Given the description of an element on the screen output the (x, y) to click on. 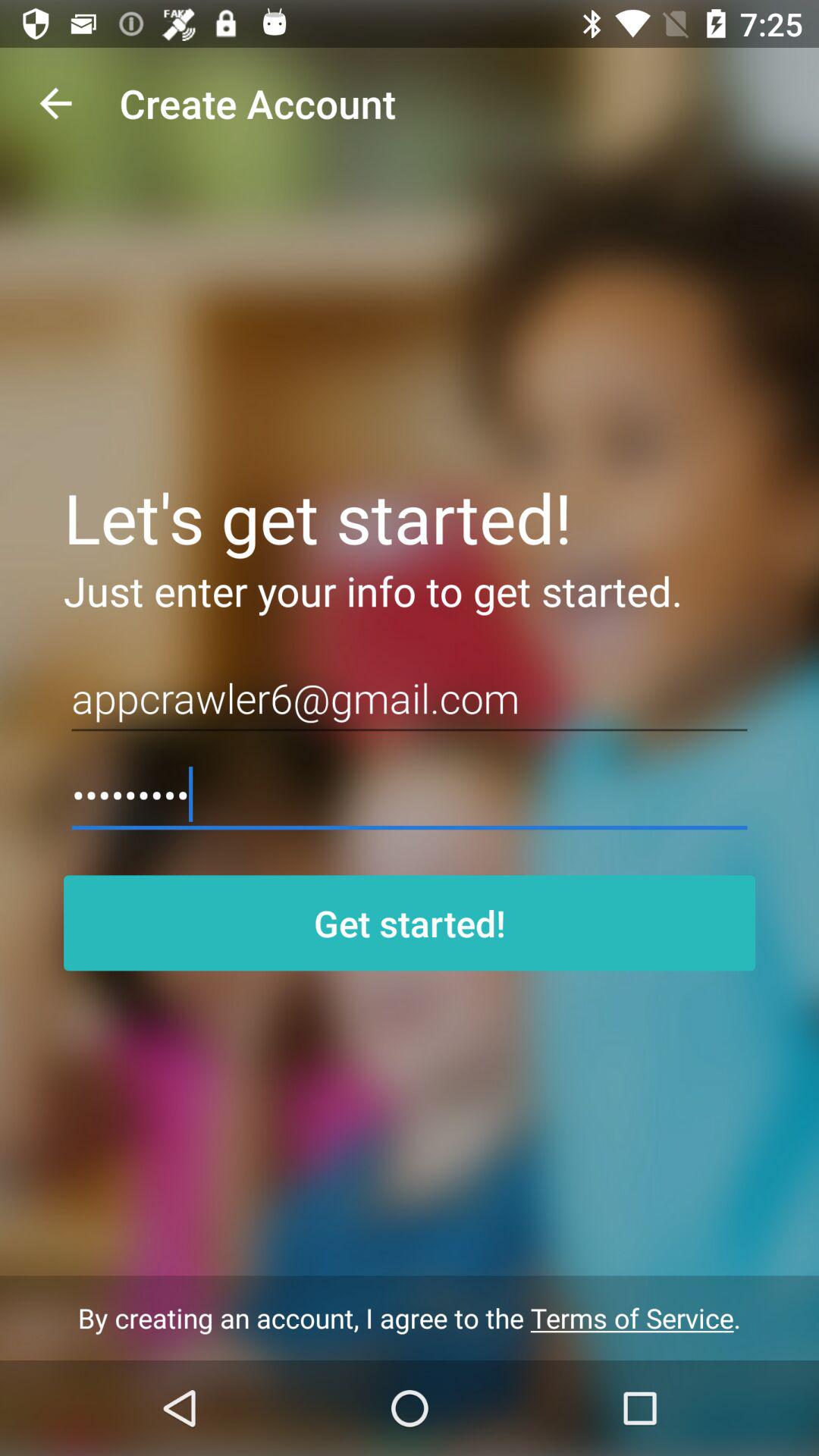
flip until crowd3116 (409, 794)
